Given the description of an element on the screen output the (x, y) to click on. 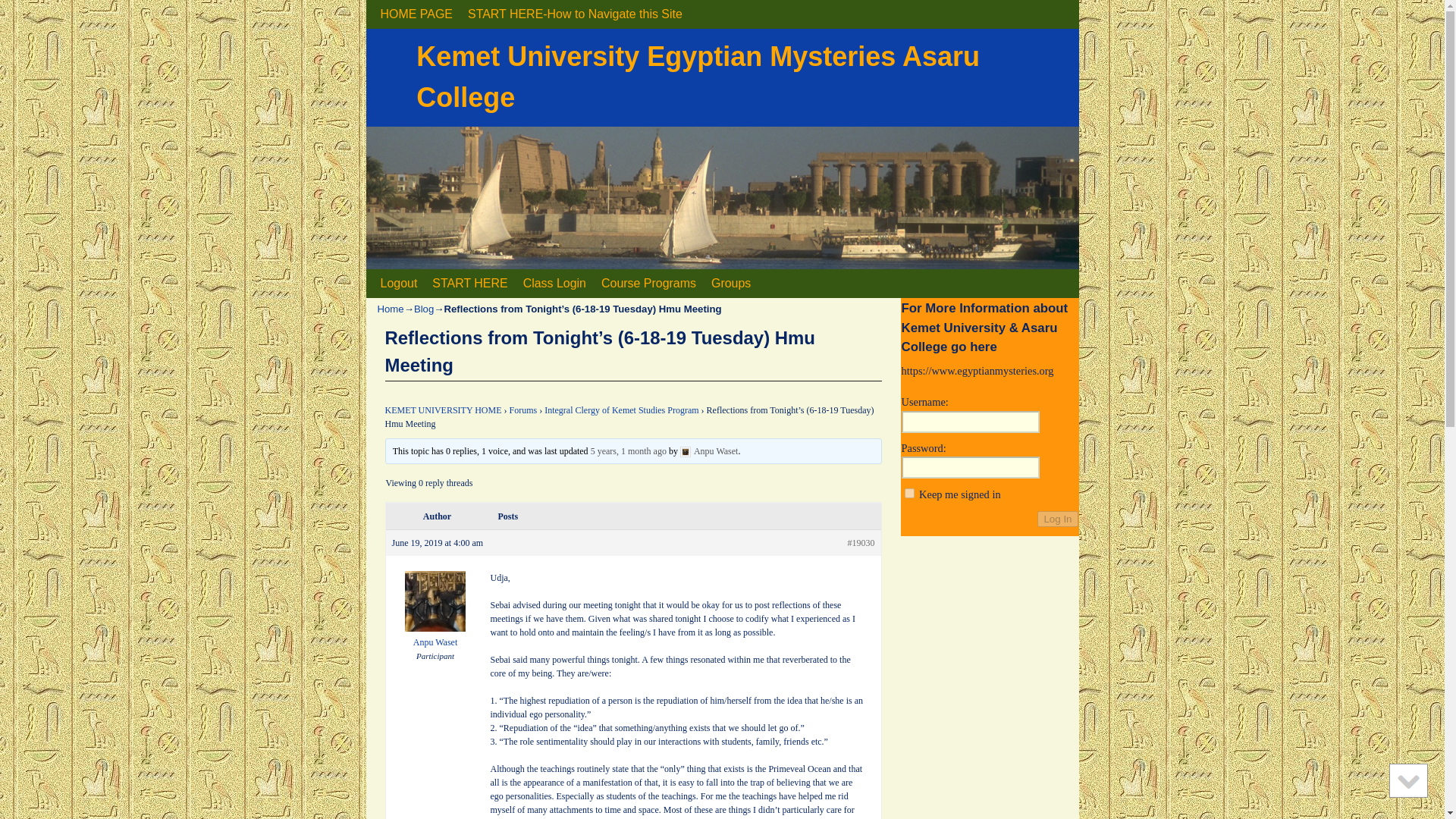
Integral Clergy of Kemet Studies Program (621, 409)
Skip to primary content (451, 283)
HOME PAGE (416, 14)
Kemet University Egyptian Mysteries Asaru College (697, 76)
KEMET UNIVERSITY HOME (443, 409)
START HERE-How to Navigate this Site (575, 14)
View Anpu Waset's profile (708, 450)
Anpu Waset (708, 450)
Course Programs (648, 283)
5 years, 1 month ago (628, 450)
Kemet University Egyptian Mysteries Asaru College (697, 76)
View Anpu Waset's profile (435, 636)
forever (909, 492)
Blog (423, 308)
Logout (398, 283)
